Given the description of an element on the screen output the (x, y) to click on. 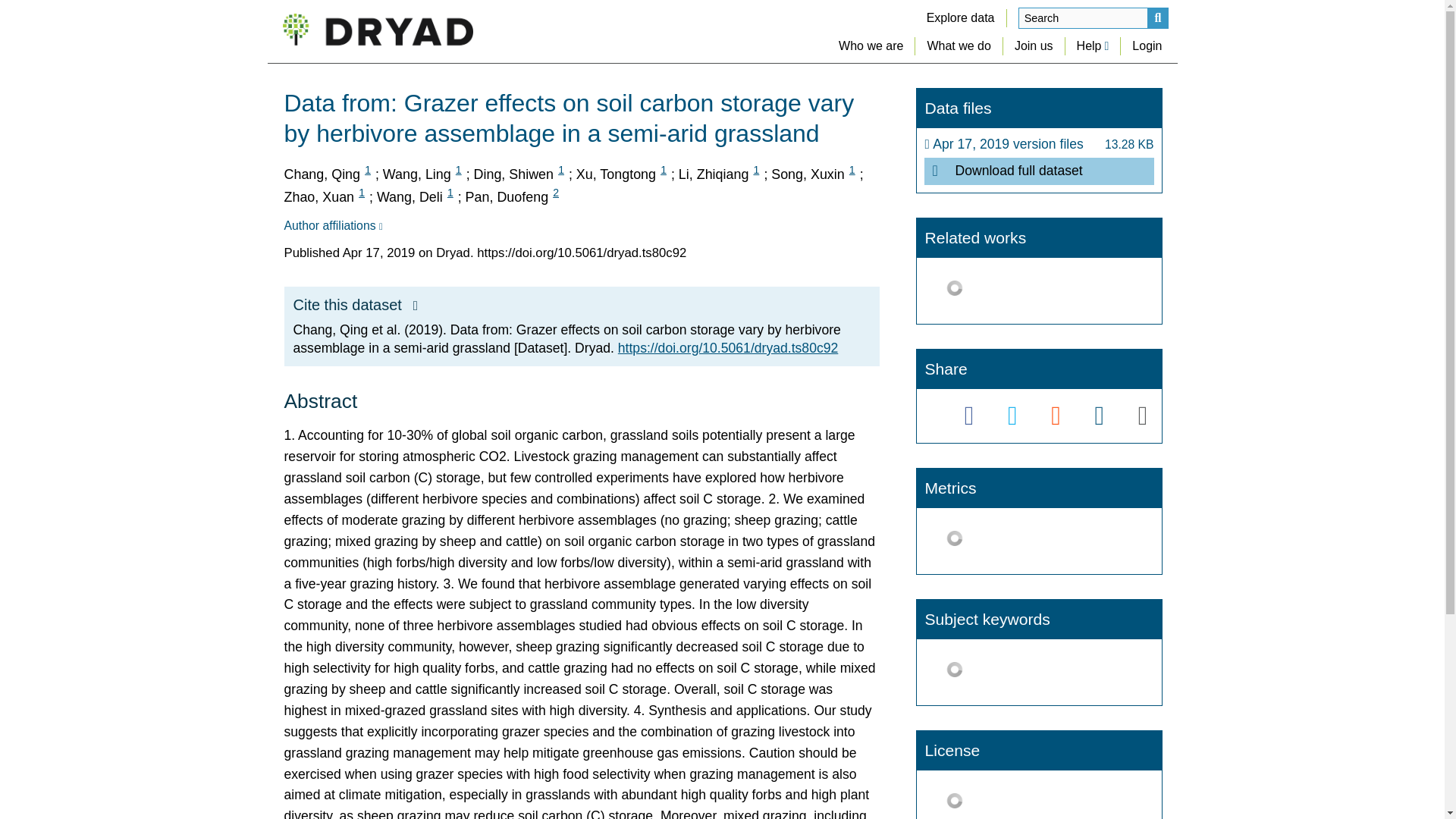
Who we are (870, 45)
Author affiliations (332, 225)
